Given the description of an element on the screen output the (x, y) to click on. 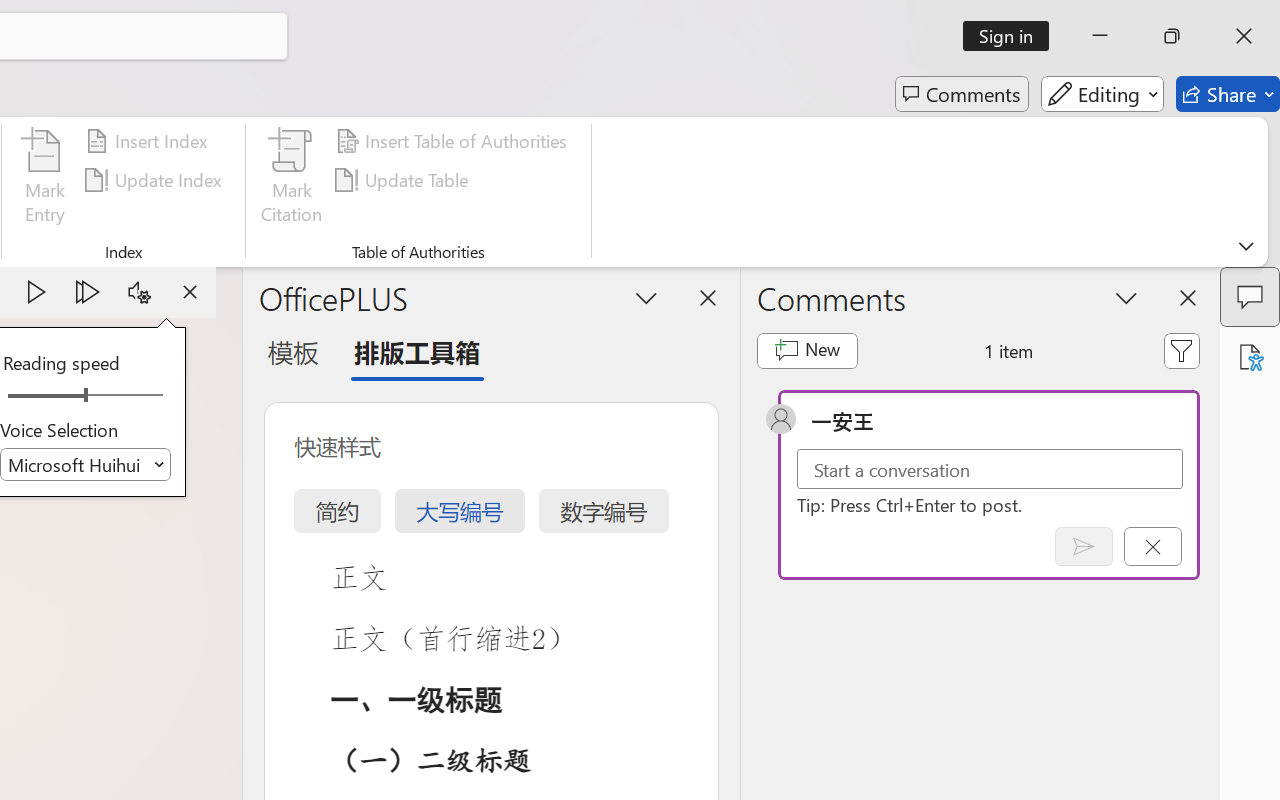
Filter (1181, 350)
Play (36, 292)
Stop (190, 292)
Update Table (404, 179)
New comment (806, 350)
Editing (1101, 94)
Start a conversation (990, 468)
Mark Citation... (292, 179)
